Given the description of an element on the screen output the (x, y) to click on. 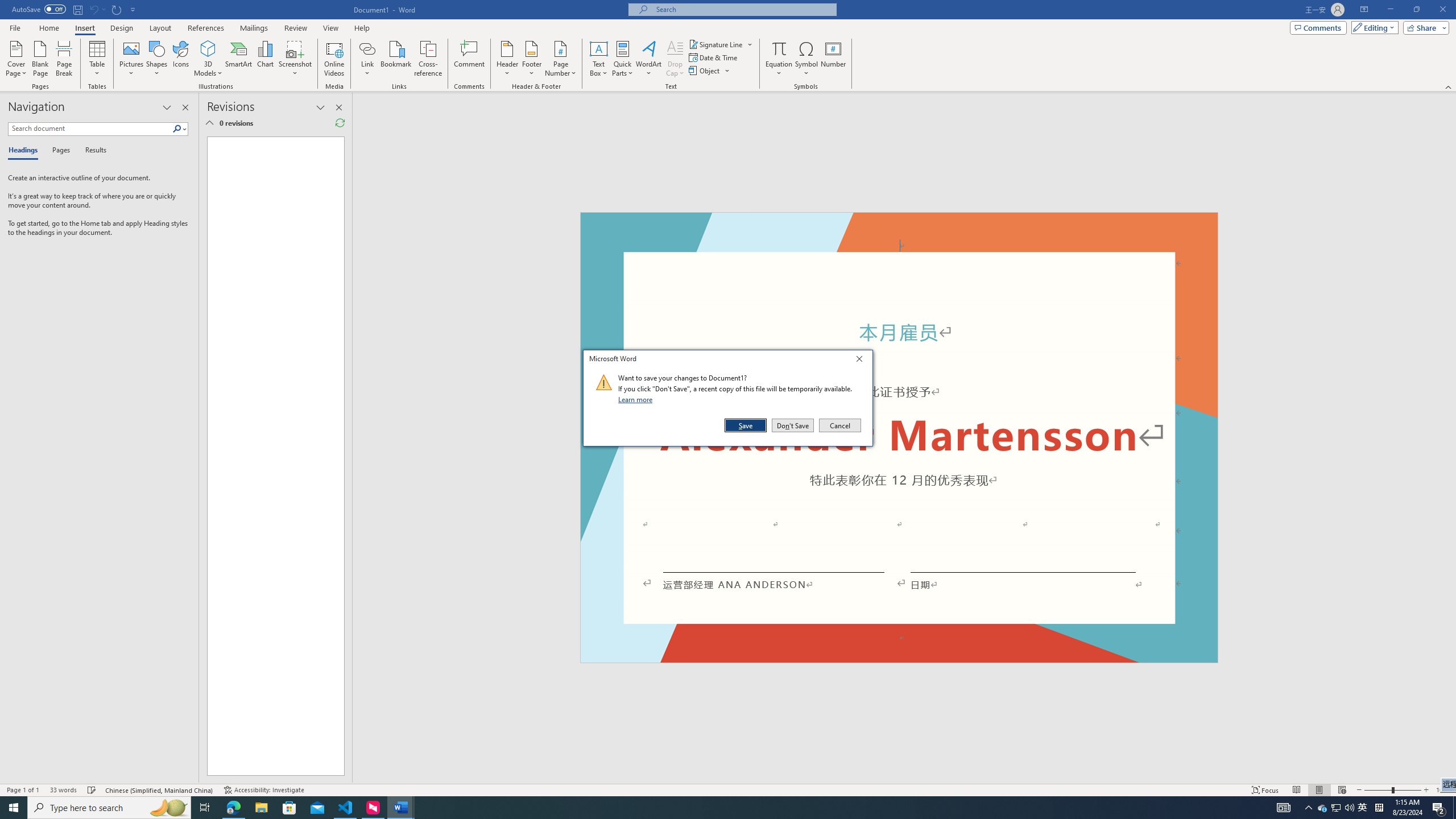
Minimize (1390, 9)
